Given the description of an element on the screen output the (x, y) to click on. 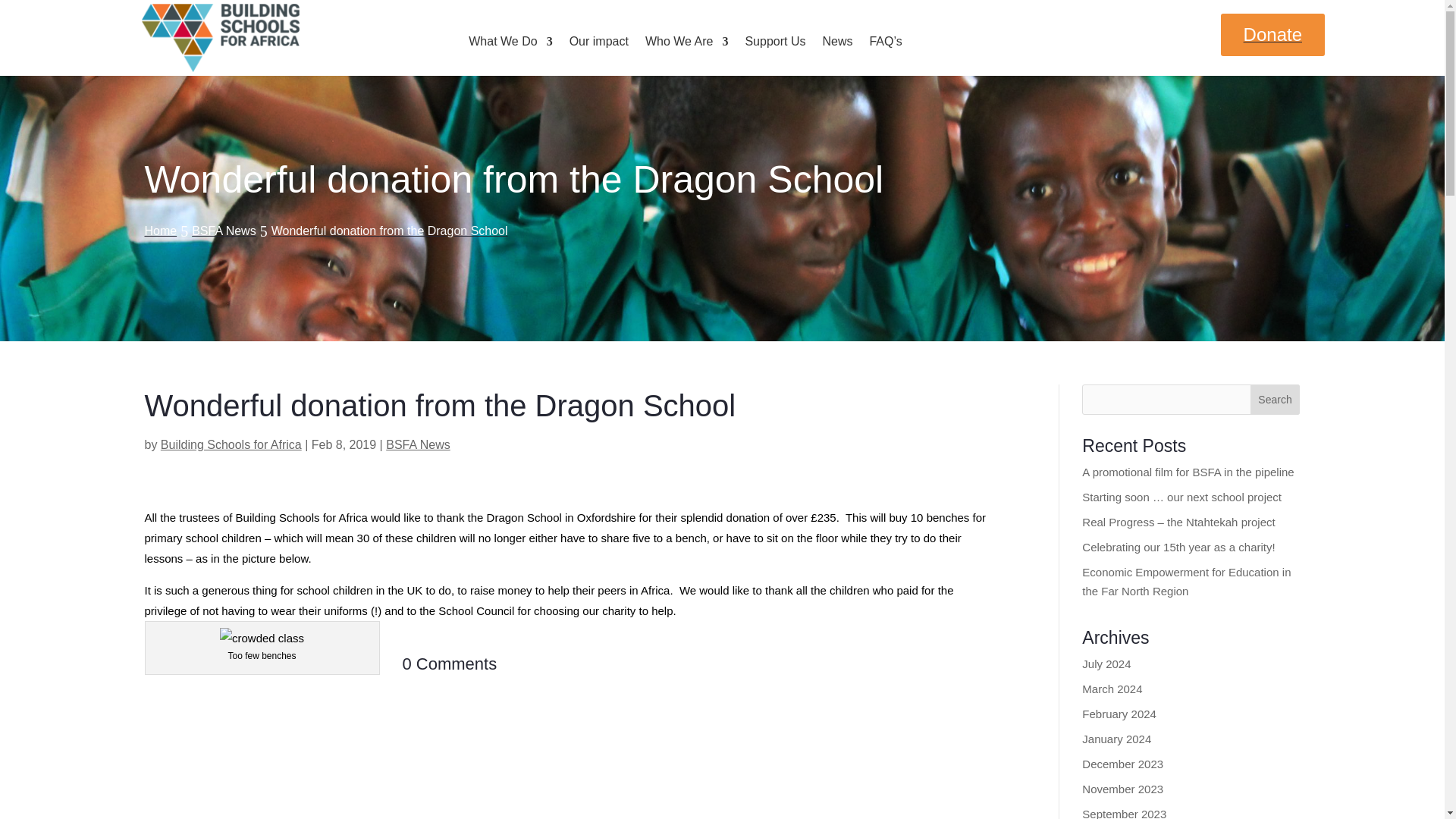
logo-3 (220, 38)
Who We Are (687, 44)
What We Do (509, 44)
Our impact (598, 44)
Posts by Building Schools for Africa (230, 444)
Donate (1272, 34)
News (836, 44)
Support Us (774, 44)
